Given the description of an element on the screen output the (x, y) to click on. 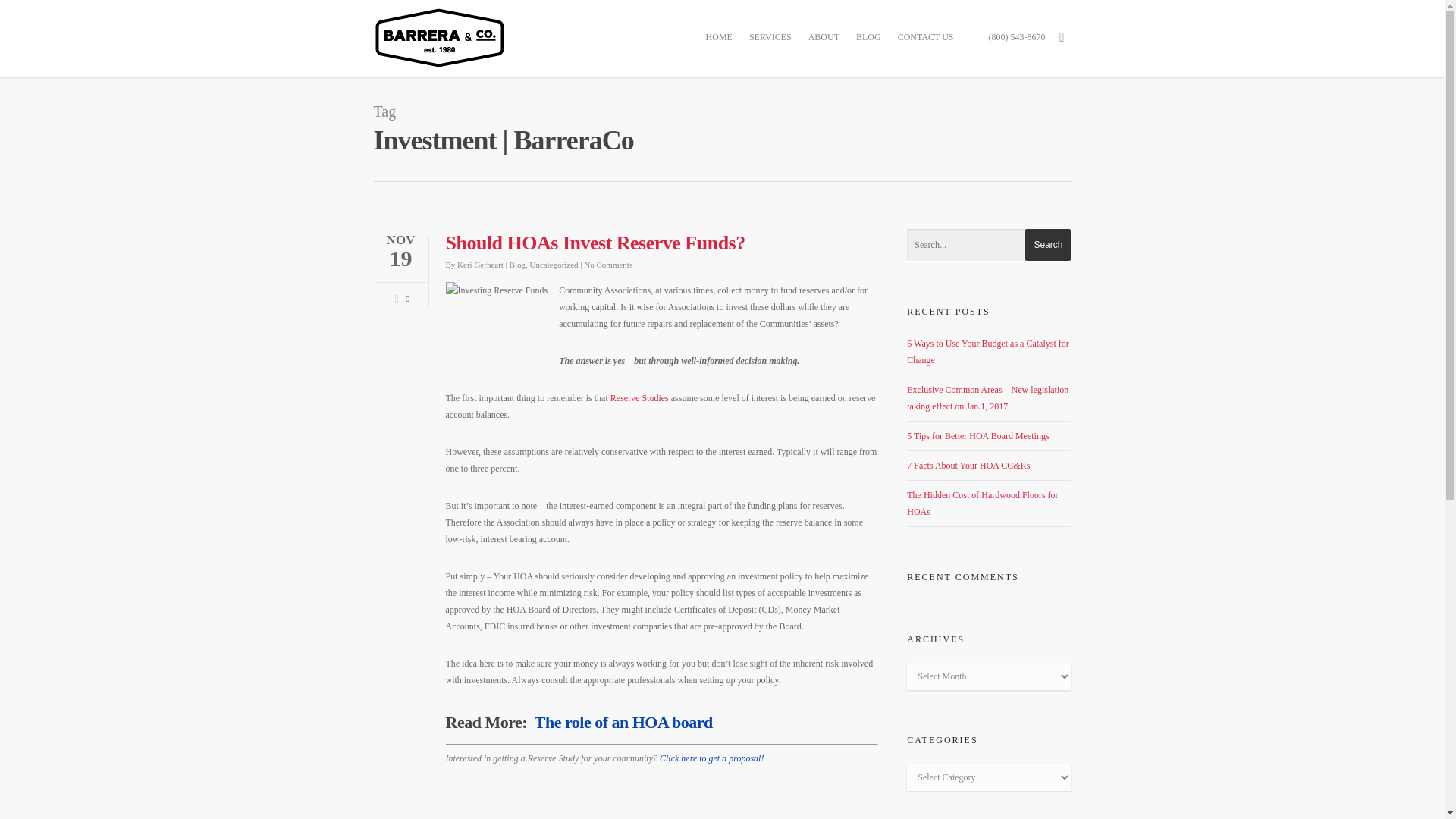
6 Ways to Use Your Budget as a Catalyst for Change (987, 351)
HOME (718, 40)
Search (1047, 245)
Blog (517, 264)
Posts by Keri Gerheart (480, 264)
Uncategorized (553, 264)
Search (1047, 245)
The role of an HOA board (623, 722)
Reserve Studies (710, 757)
Search (1047, 245)
Reserve Studies (639, 398)
The role of an HOA board (623, 722)
Keri Gerheart (480, 264)
Reserve Studies (639, 398)
Should HOAs Invest Reserve Funds? (595, 242)
